Given the description of an element on the screen output the (x, y) to click on. 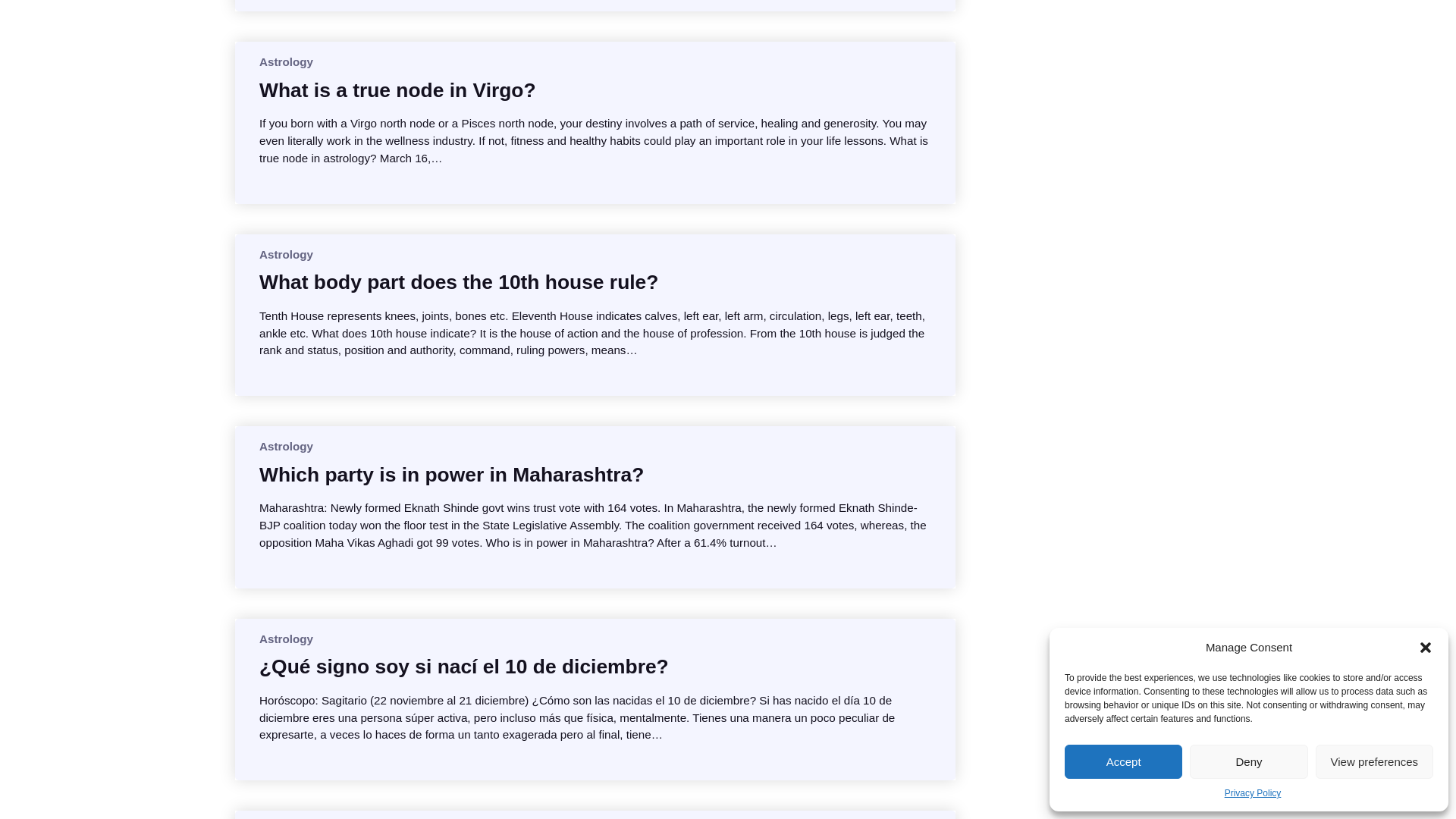
What is a true node in Virgo? (397, 89)
Astrology (286, 254)
Which party is in power in Maharashtra? (451, 474)
What body part does the 10th house rule? (458, 281)
Astrology (286, 638)
Astrology (286, 445)
Astrology (286, 61)
